Given the description of an element on the screen output the (x, y) to click on. 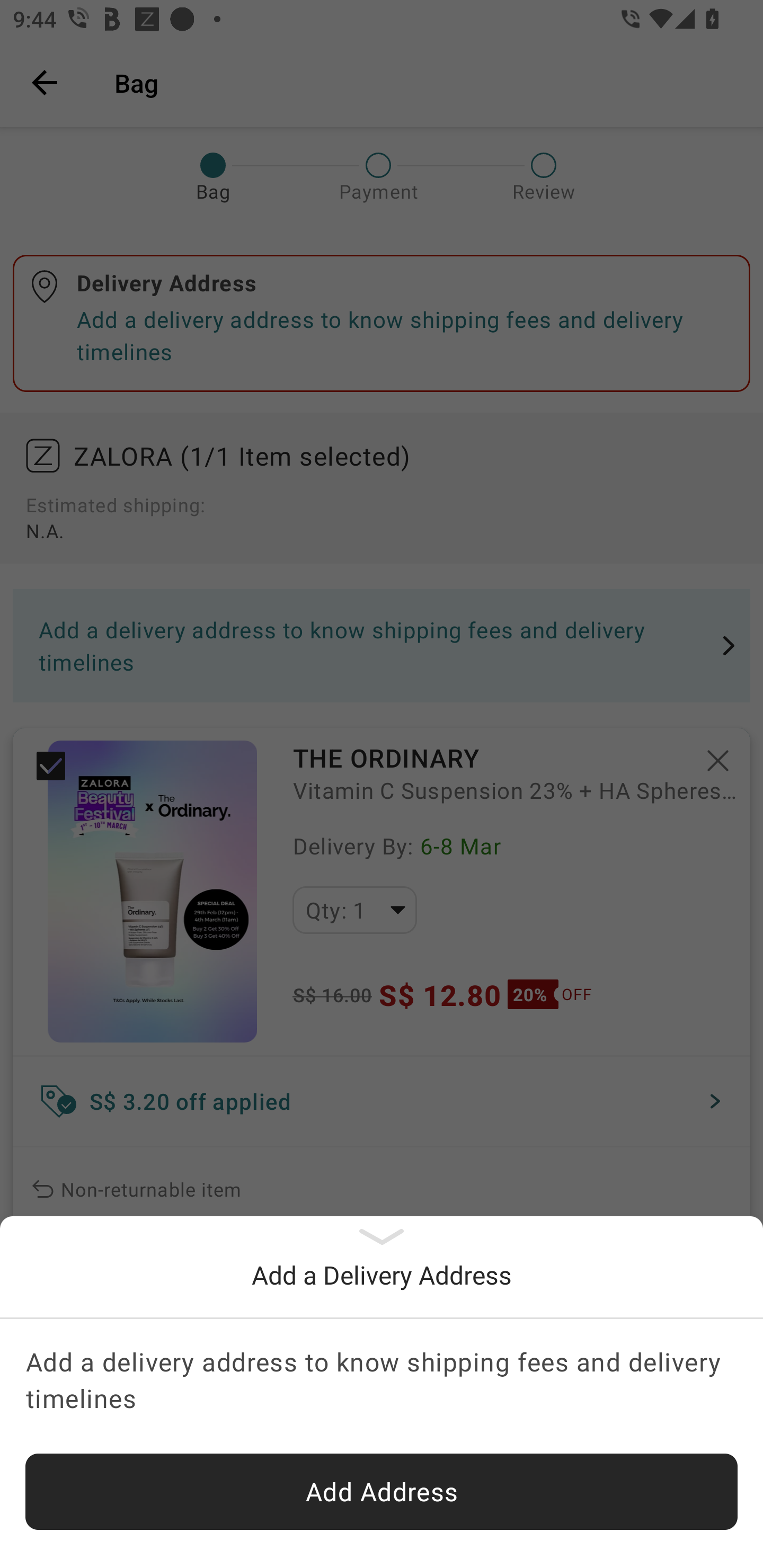
Add Address (381, 1491)
